Given the description of an element on the screen output the (x, y) to click on. 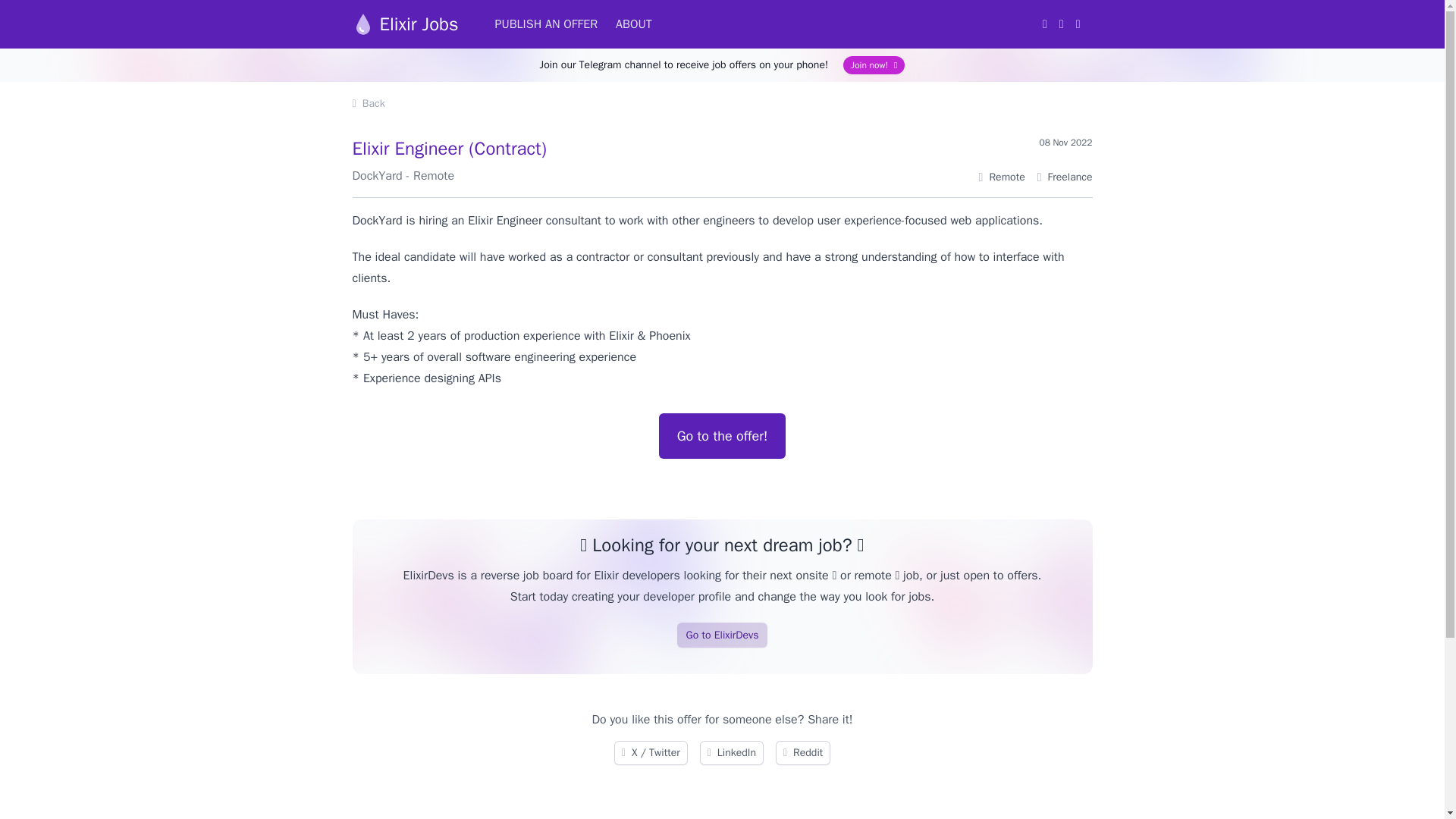
Elixir Jobs (405, 24)
Join now! (873, 65)
PUBLISH AN OFFER (545, 24)
Back (368, 103)
ABOUT (633, 24)
Go to ElixirDevs (722, 634)
Go to the offer! (722, 435)
Reddit (802, 752)
LinkedIn (731, 752)
